Given the description of an element on the screen output the (x, y) to click on. 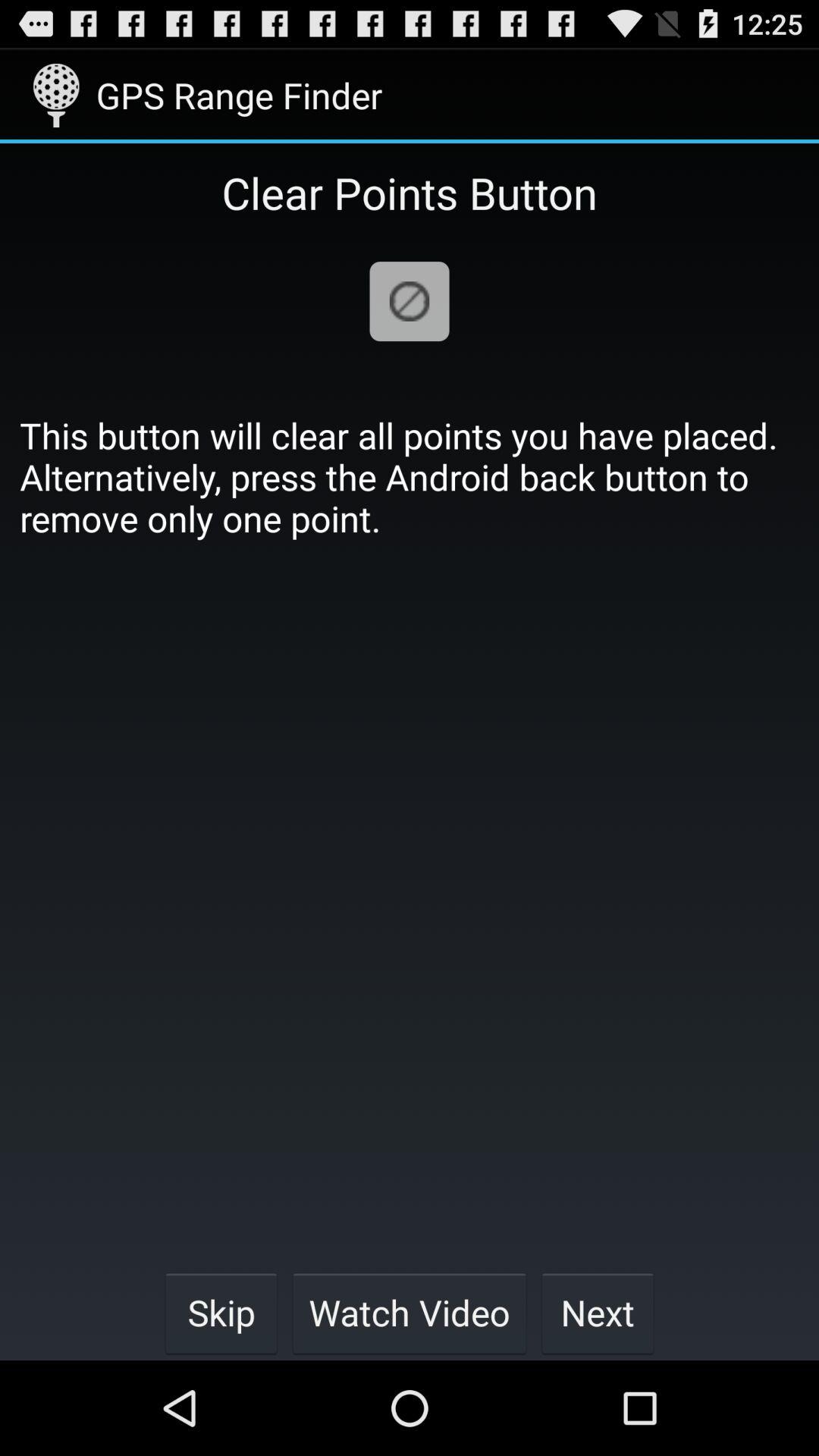
launch app below this button will app (409, 1312)
